Given the description of an element on the screen output the (x, y) to click on. 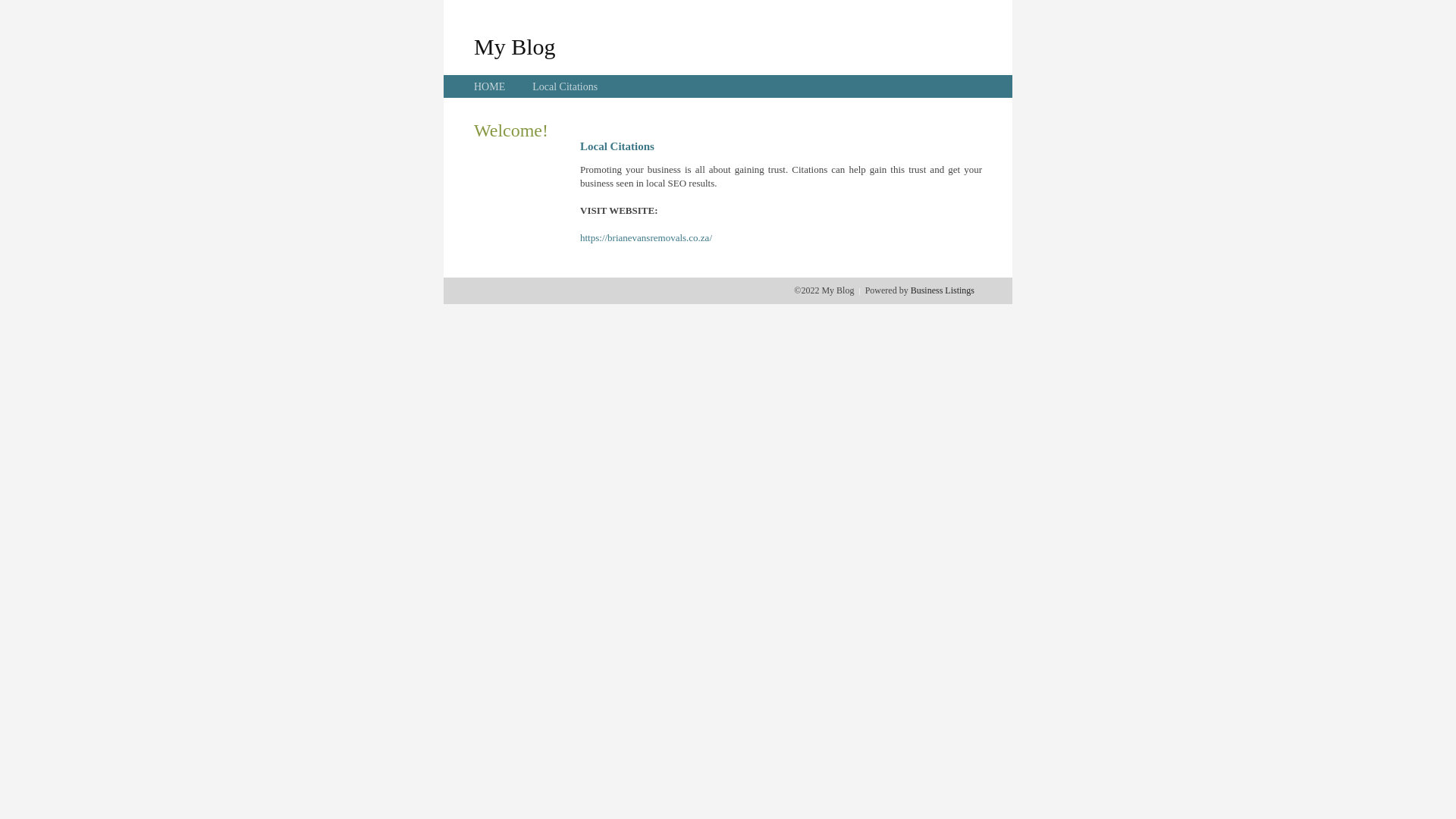
HOME Element type: text (489, 86)
Business Listings Element type: text (942, 290)
Local Citations Element type: text (564, 86)
https://brianevansremovals.co.za/ Element type: text (646, 237)
My Blog Element type: text (514, 46)
